Given the description of an element on the screen output the (x, y) to click on. 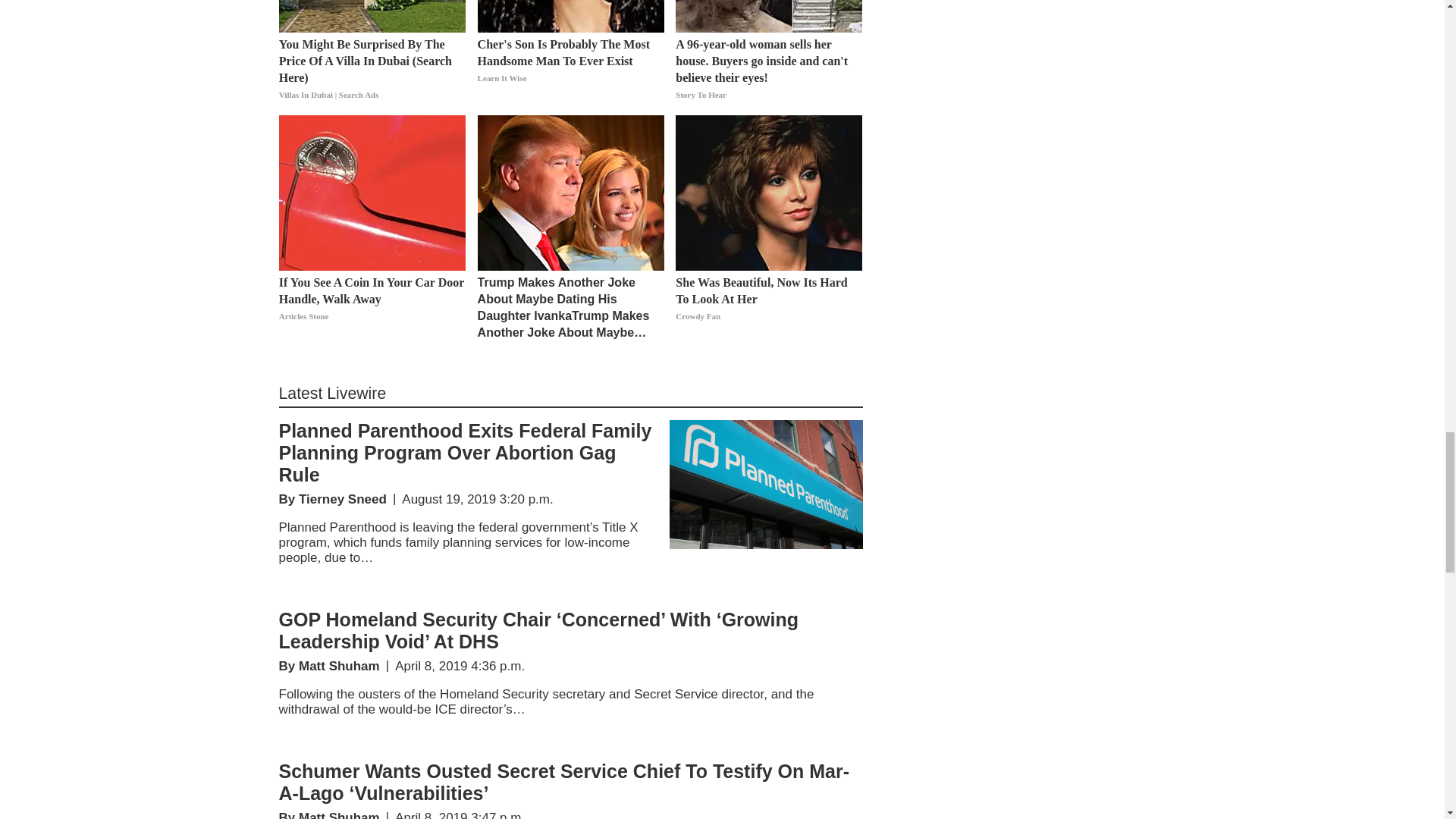
If You See A Coin In Your Car Door Handle, Walk Away (372, 307)
Cher's Son Is Probably The Most Handsome Man To Ever Exist (570, 69)
